Given the description of an element on the screen output the (x, y) to click on. 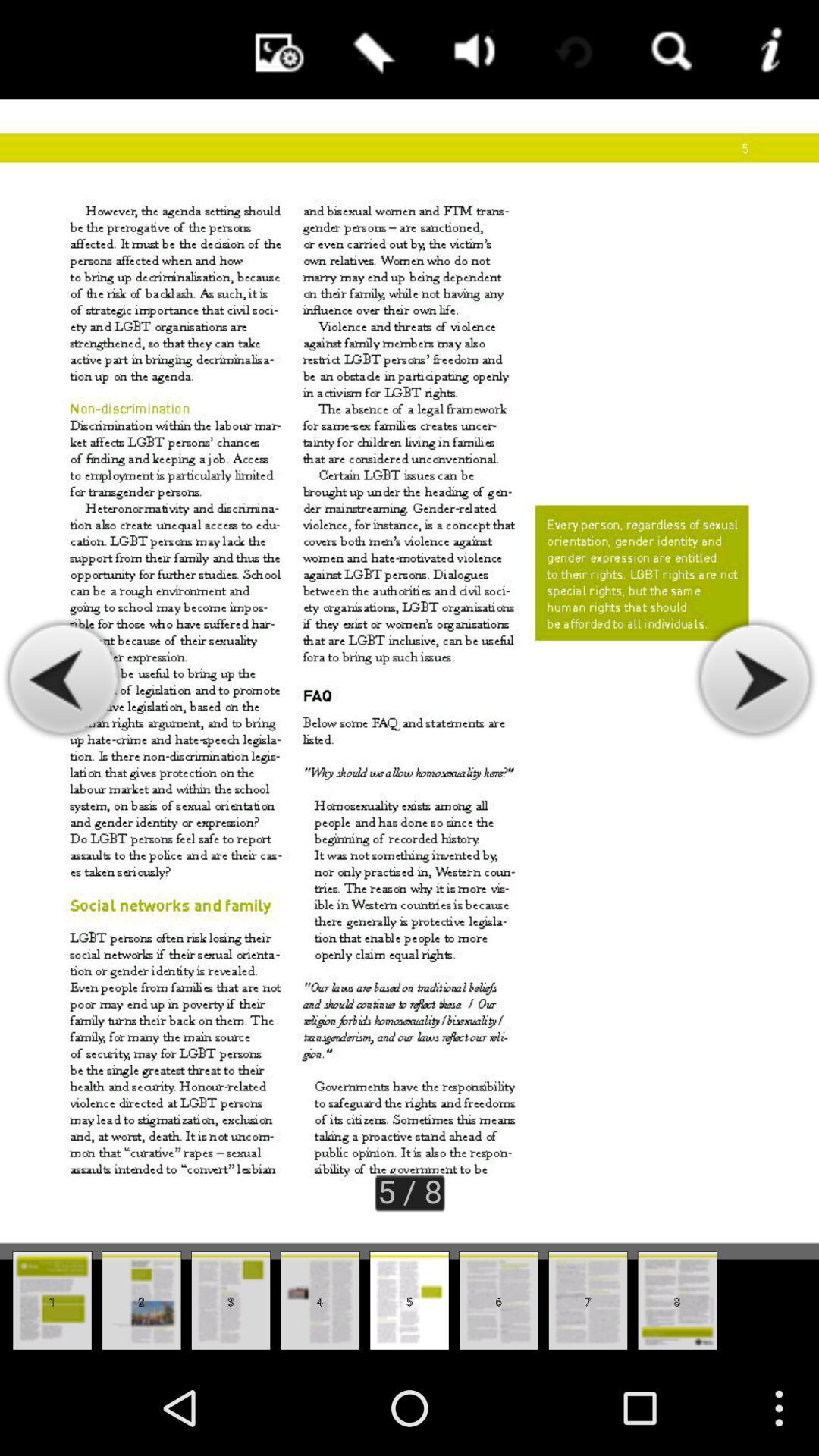
open item above 5 / 8 app (370, 49)
